Given the description of an element on the screen output the (x, y) to click on. 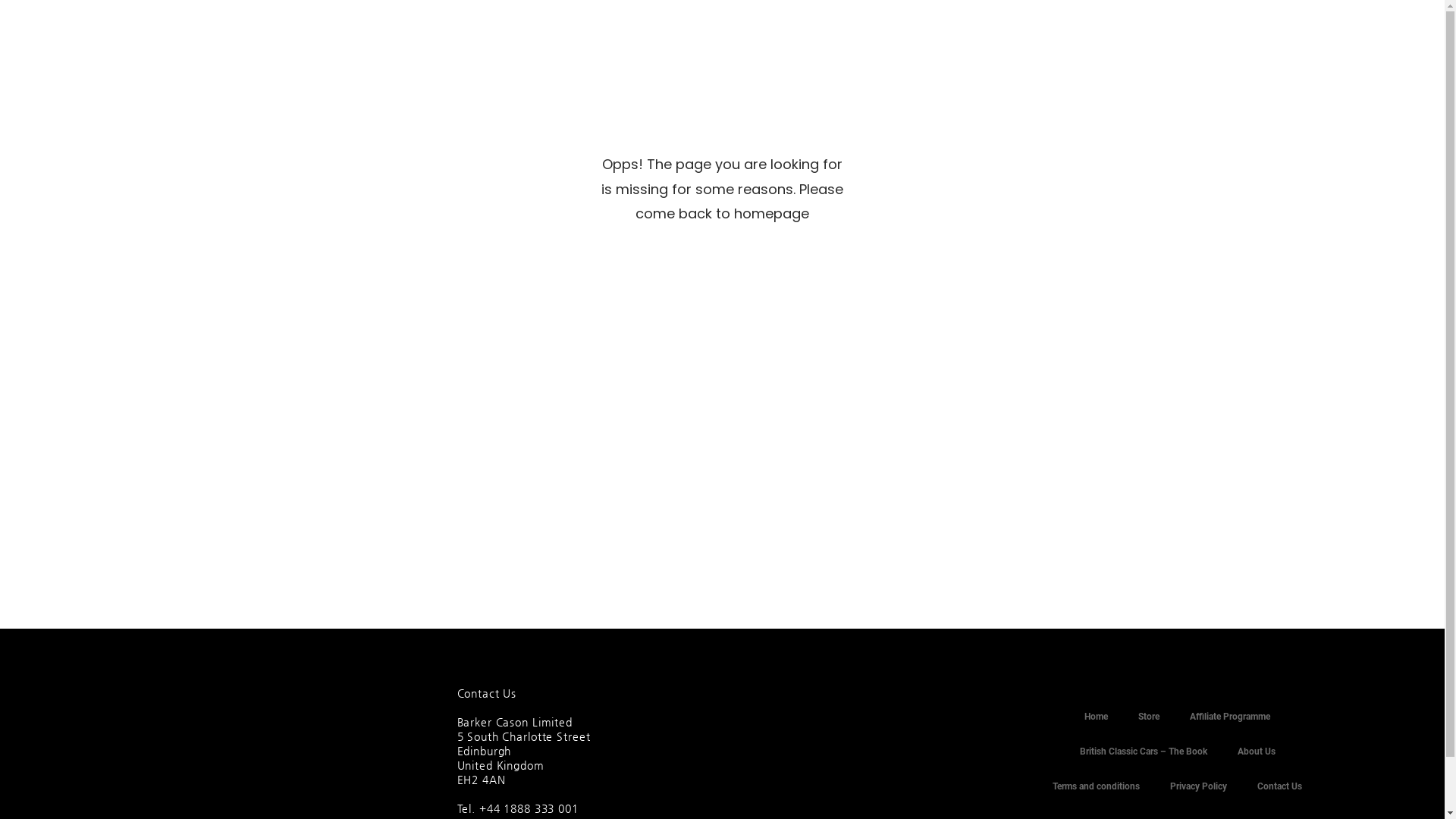
Affiliate Programme Element type: text (1229, 716)
Contact Us Element type: text (1279, 785)
Home Element type: text (1096, 716)
Store Element type: text (1148, 716)
Privacy Policy Element type: text (1198, 785)
Search Element type: text (950, 428)
About Us Element type: text (1256, 751)
Terms and conditions Element type: text (1095, 785)
